Given the description of an element on the screen output the (x, y) to click on. 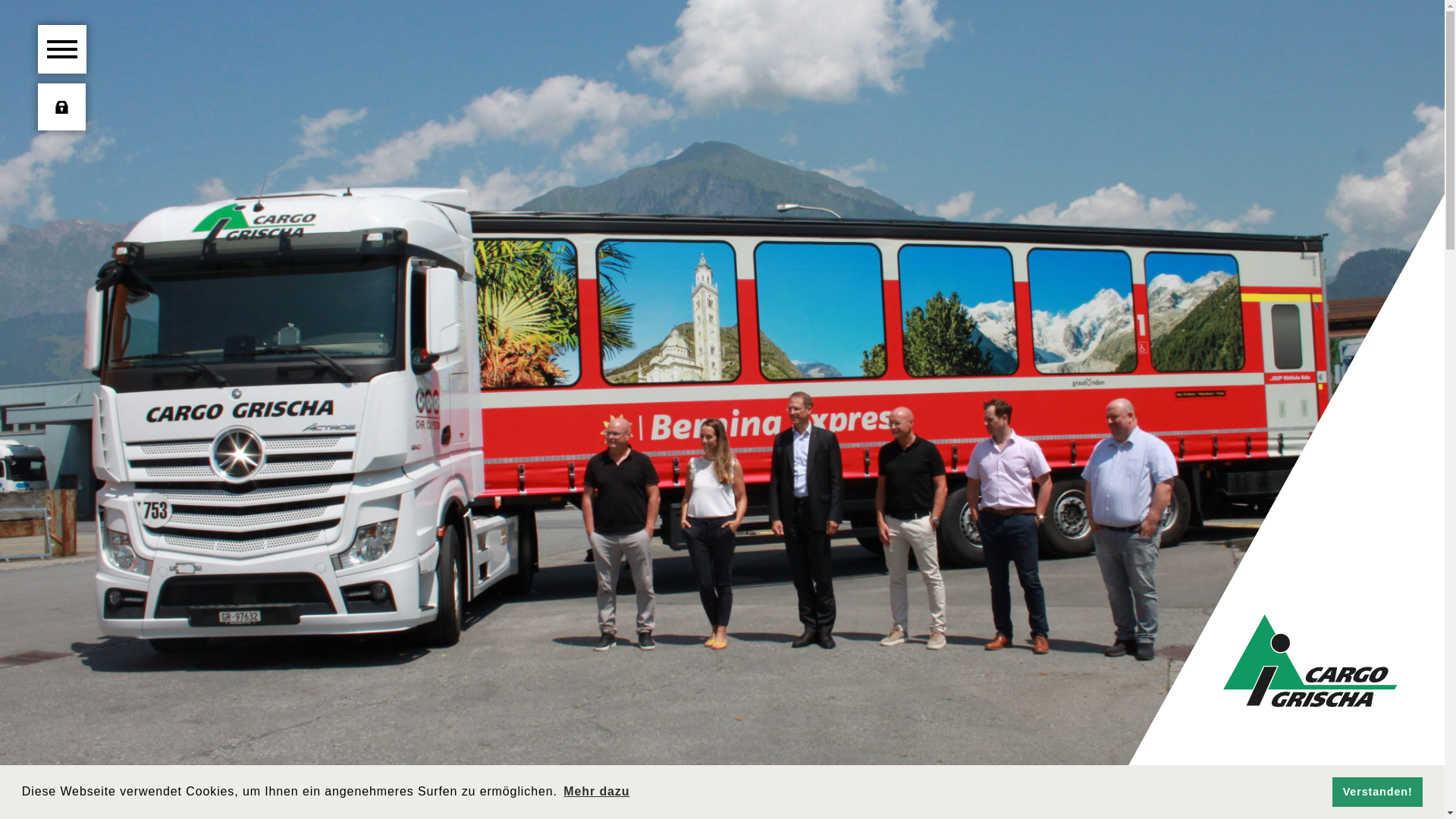
Verstanden! Element type: text (1377, 791)
Mehr dazu Element type: text (596, 791)
